Given the description of an element on the screen output the (x, y) to click on. 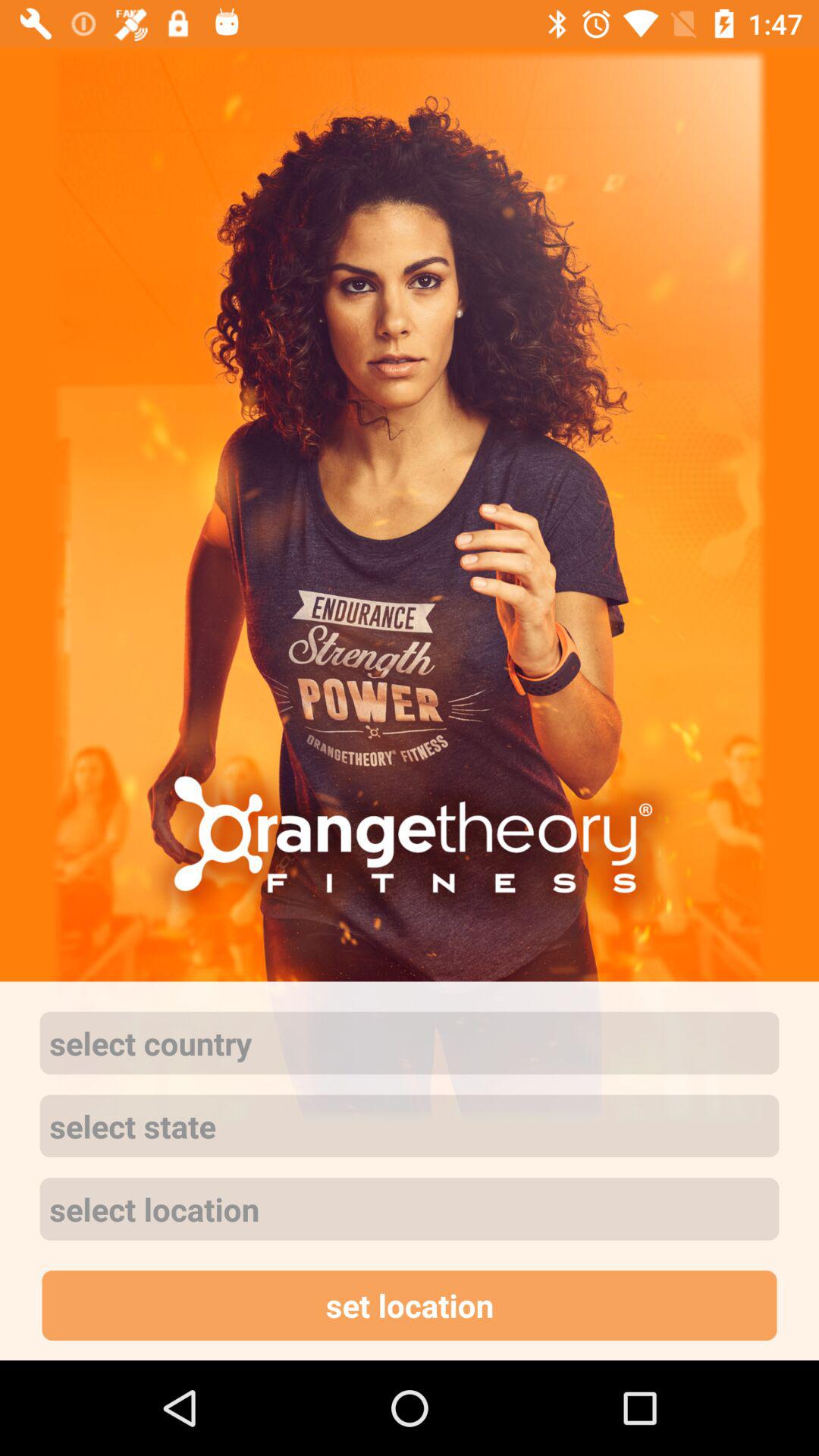
open app below the select location icon (409, 1305)
